Given the description of an element on the screen output the (x, y) to click on. 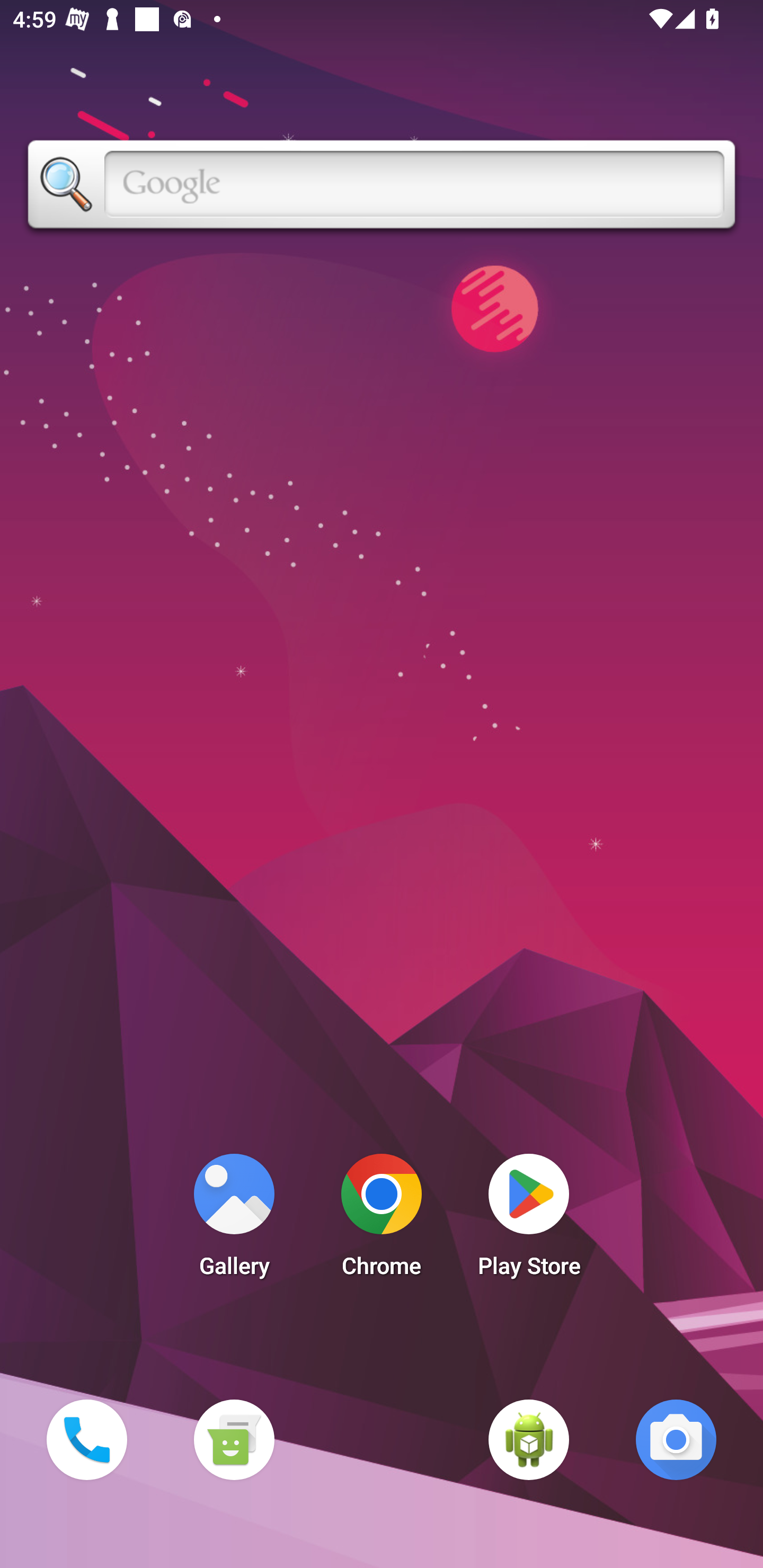
Gallery (233, 1220)
Chrome (381, 1220)
Play Store (528, 1220)
Phone (86, 1439)
Messaging (233, 1439)
WebView Browser Tester (528, 1439)
Camera (676, 1439)
